Given the description of an element on the screen output the (x, y) to click on. 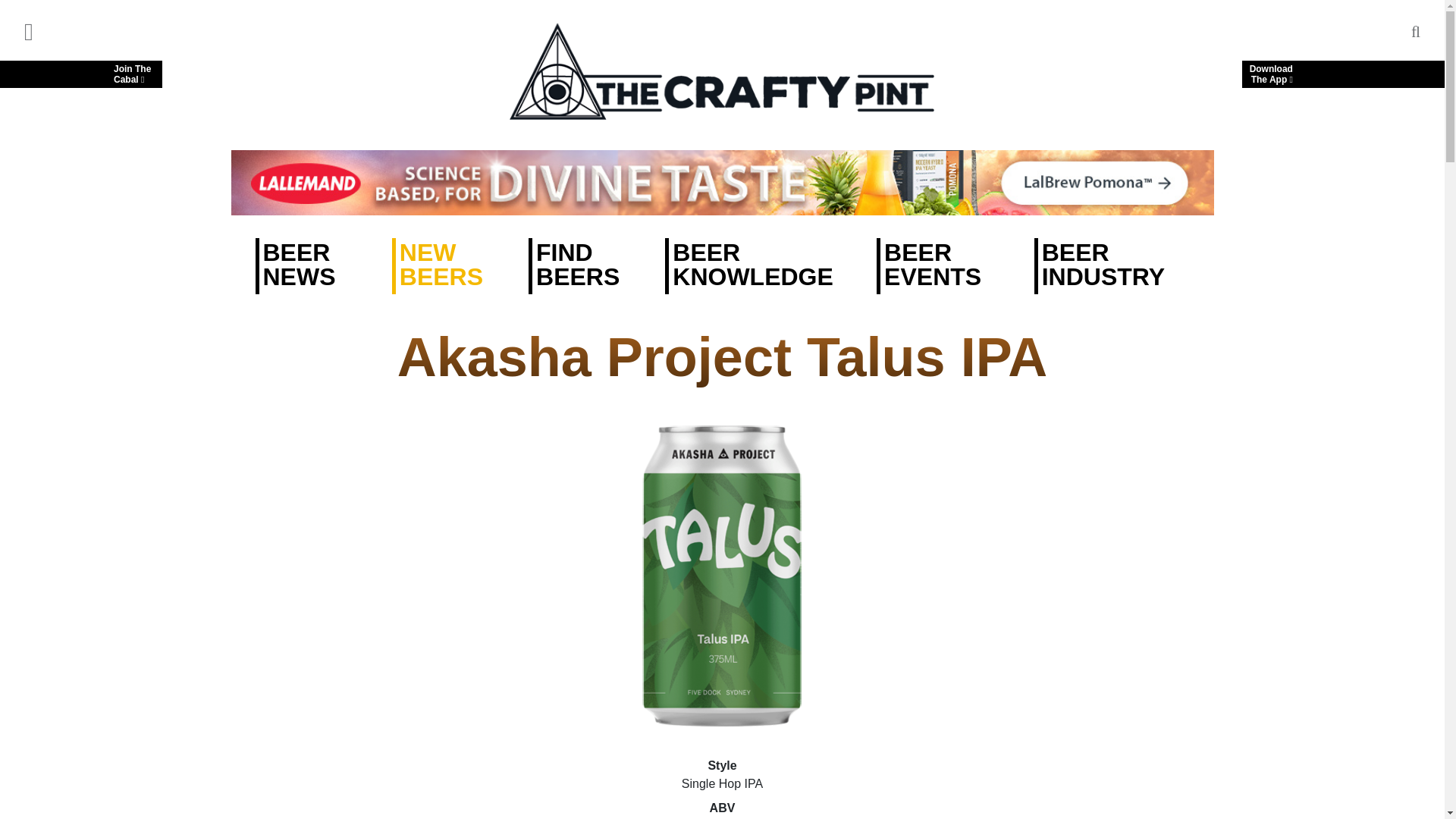
Lallemand Pomona A (721, 182)
